Given the description of an element on the screen output the (x, y) to click on. 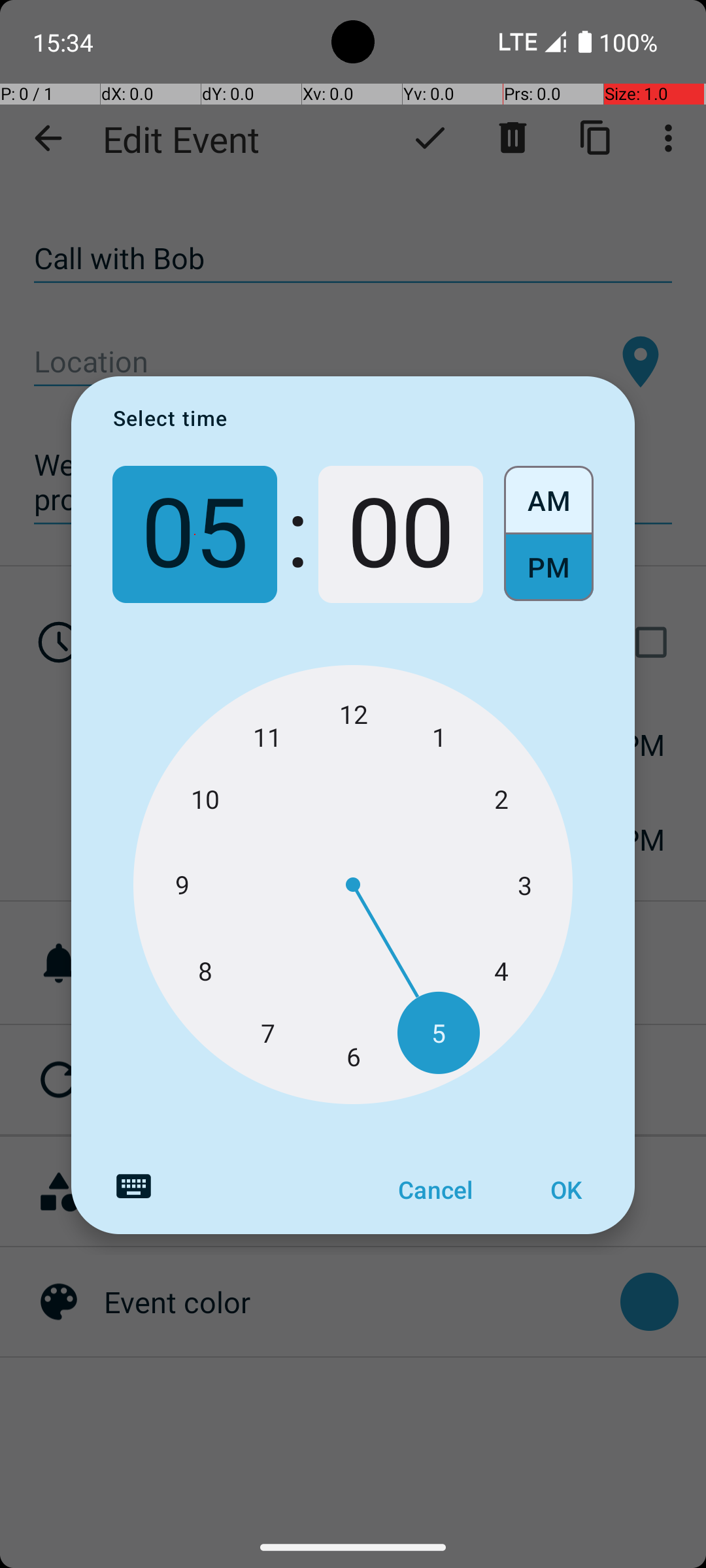
Select AM or PM Element type: android.widget.LinearLayout (548, 534)
